Given the description of an element on the screen output the (x, y) to click on. 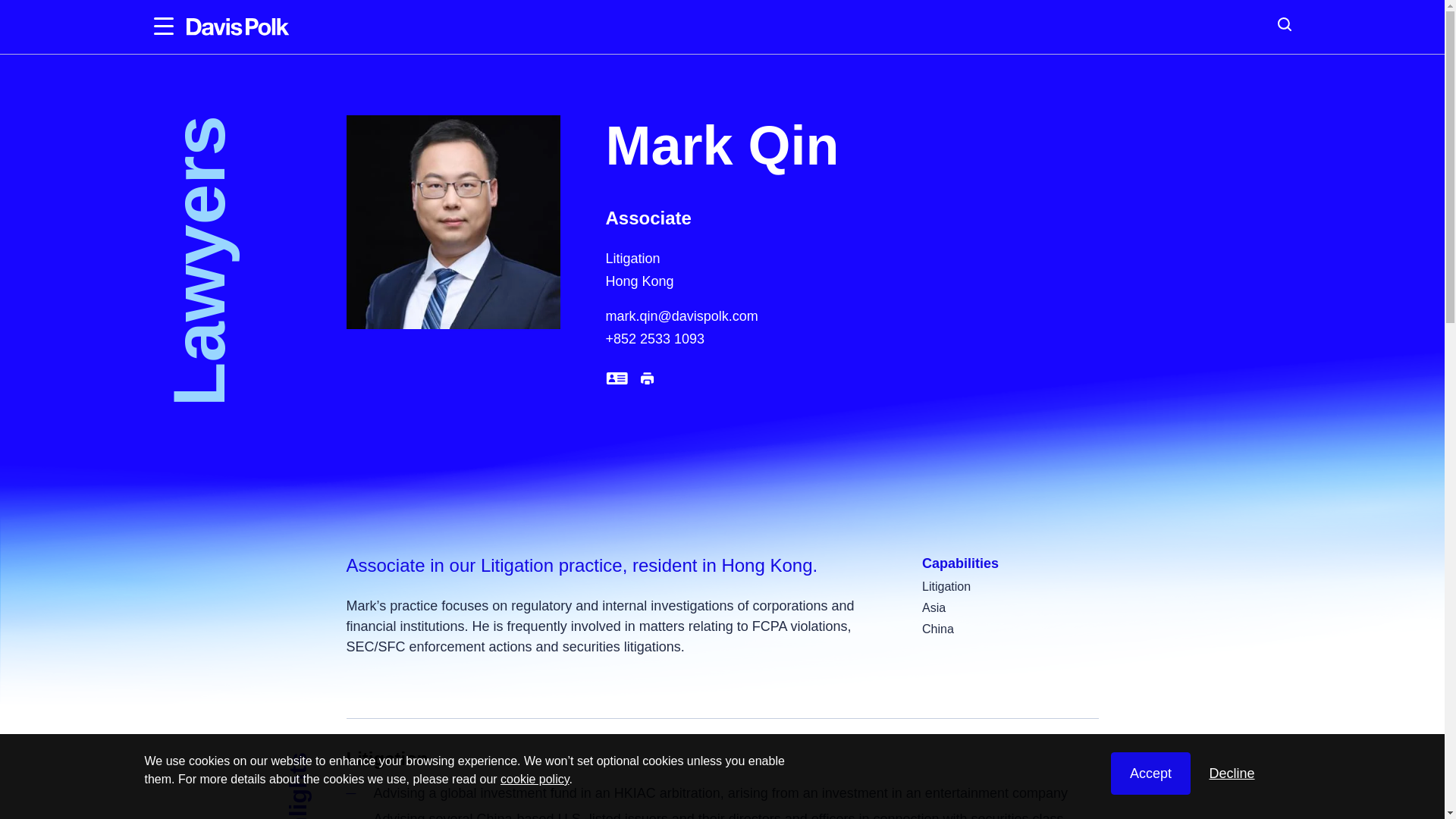
Download address card (616, 379)
Davis Polk (237, 27)
Asia (932, 607)
Litigation (946, 585)
China (937, 628)
